Given the description of an element on the screen output the (x, y) to click on. 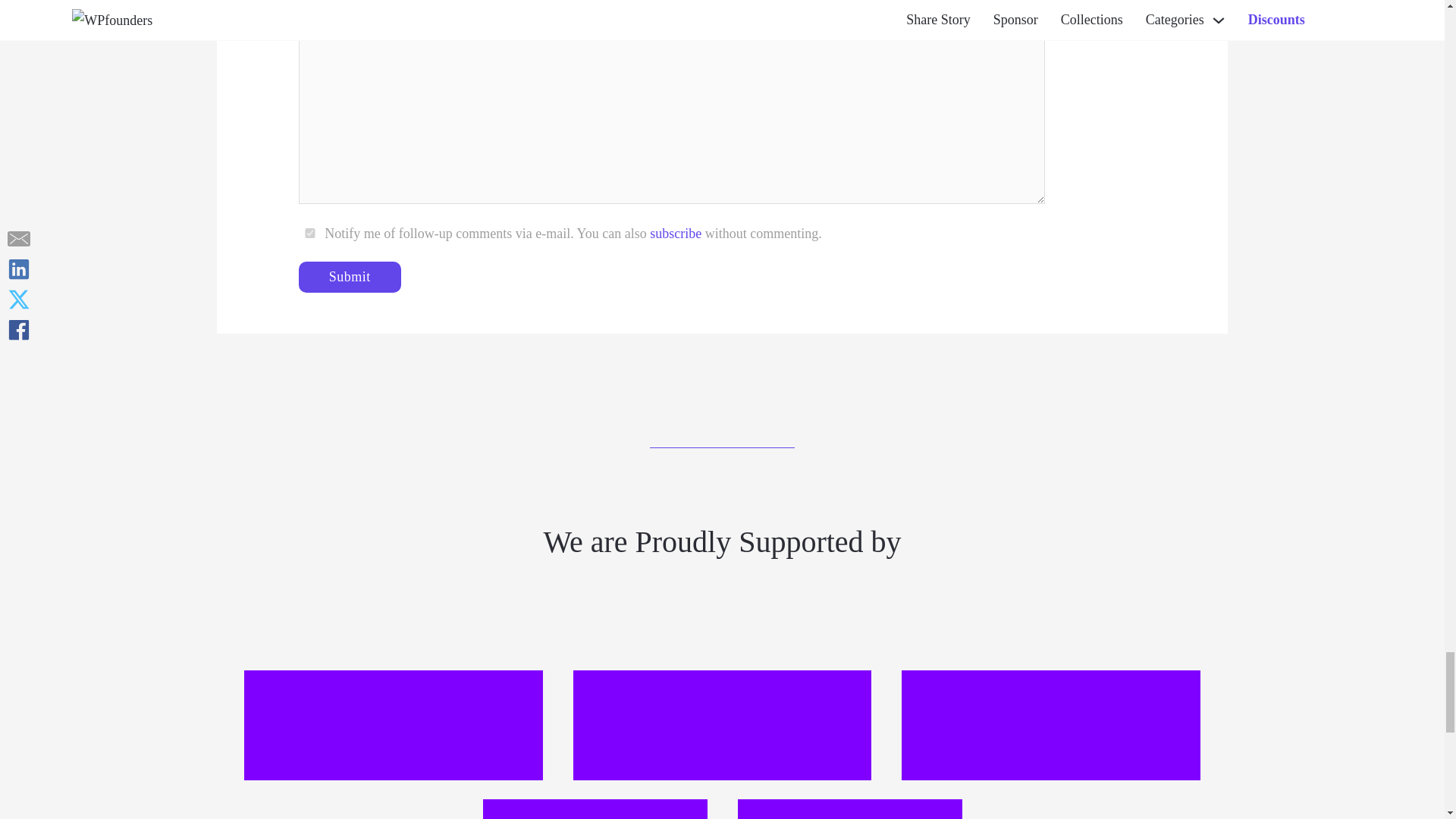
yes (309, 233)
Submit (349, 276)
